Given the description of an element on the screen output the (x, y) to click on. 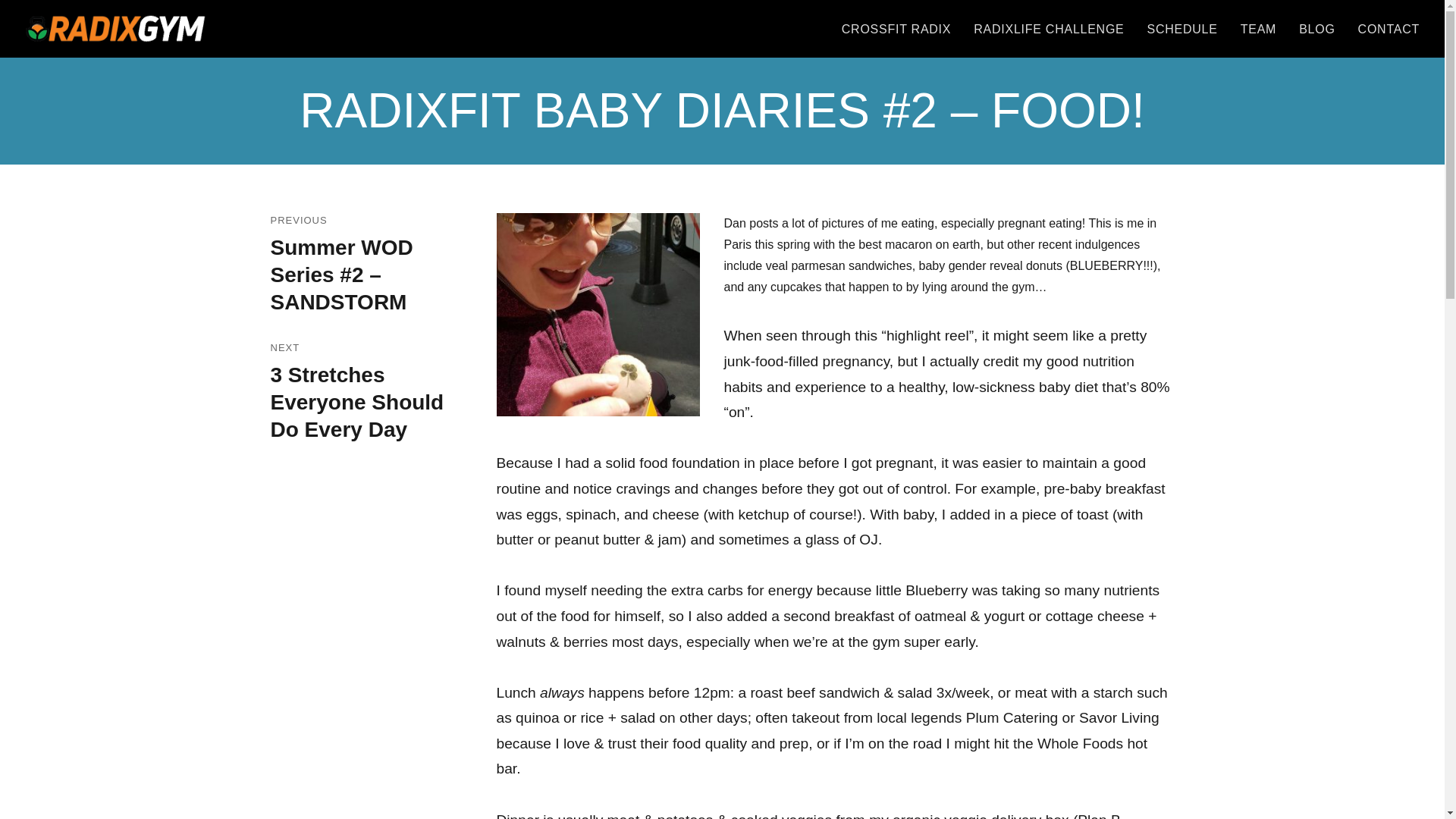
Schedule (1181, 28)
SCHEDULE (1181, 28)
TEAM (1257, 28)
CROSSFIT RADIX (895, 28)
Blog (1316, 28)
RADIXLIFE CHALLENGE (1048, 28)
Radix Performance Centre (370, 403)
BLOG (115, 28)
CONTACT (1316, 28)
